Given the description of an element on the screen output the (x, y) to click on. 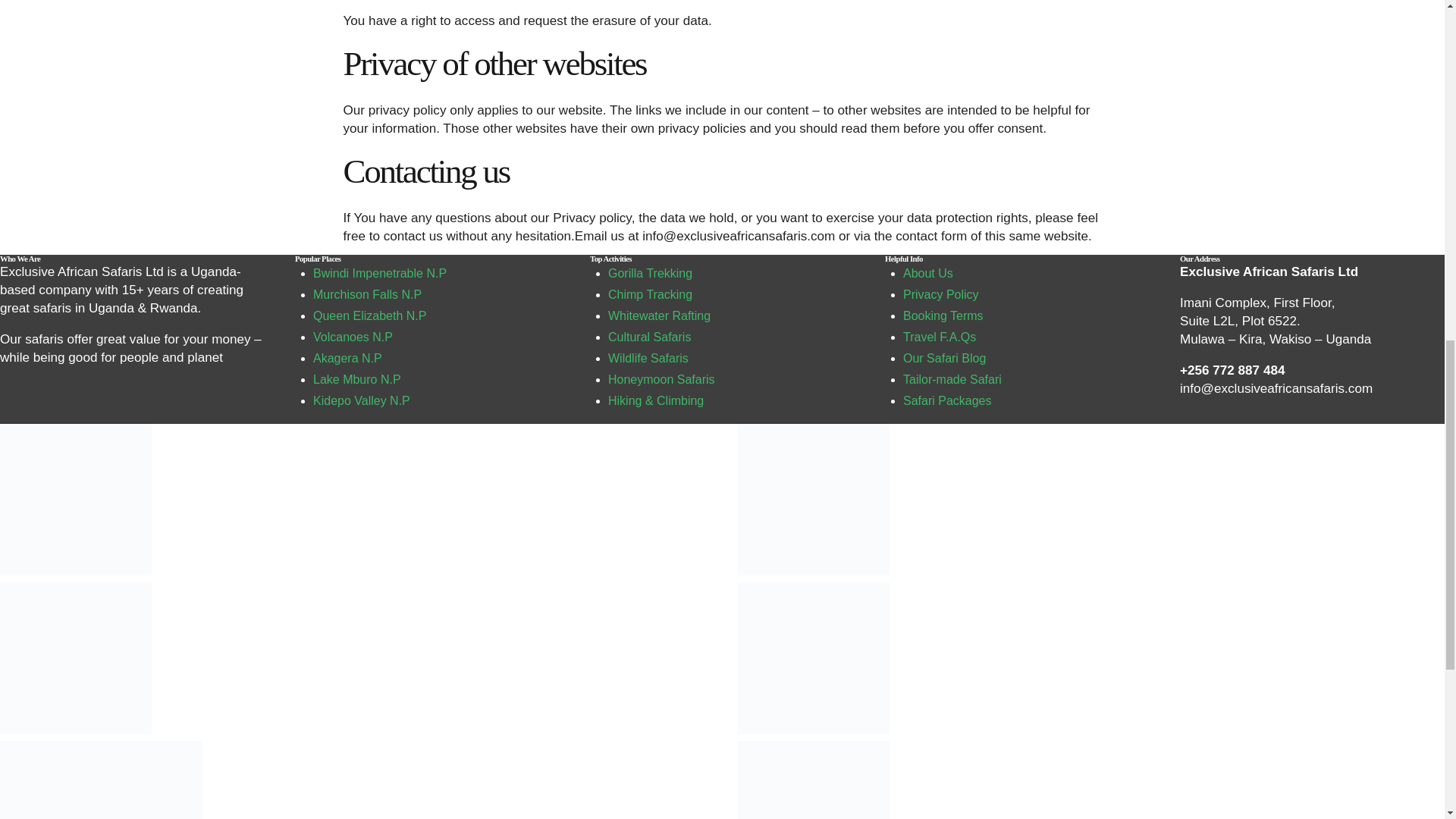
uwa-partner (75, 657)
utb-partner (812, 499)
Lake Mburo N.P (357, 379)
Murchison Falls N.P (367, 294)
Booking Terms (943, 315)
About Us (927, 273)
Honeymoon Safaris (661, 379)
Travel F.A.Qs (938, 336)
Queen Elizabeth N.P (369, 315)
ucf-partner (812, 657)
